Given the description of an element on the screen output the (x, y) to click on. 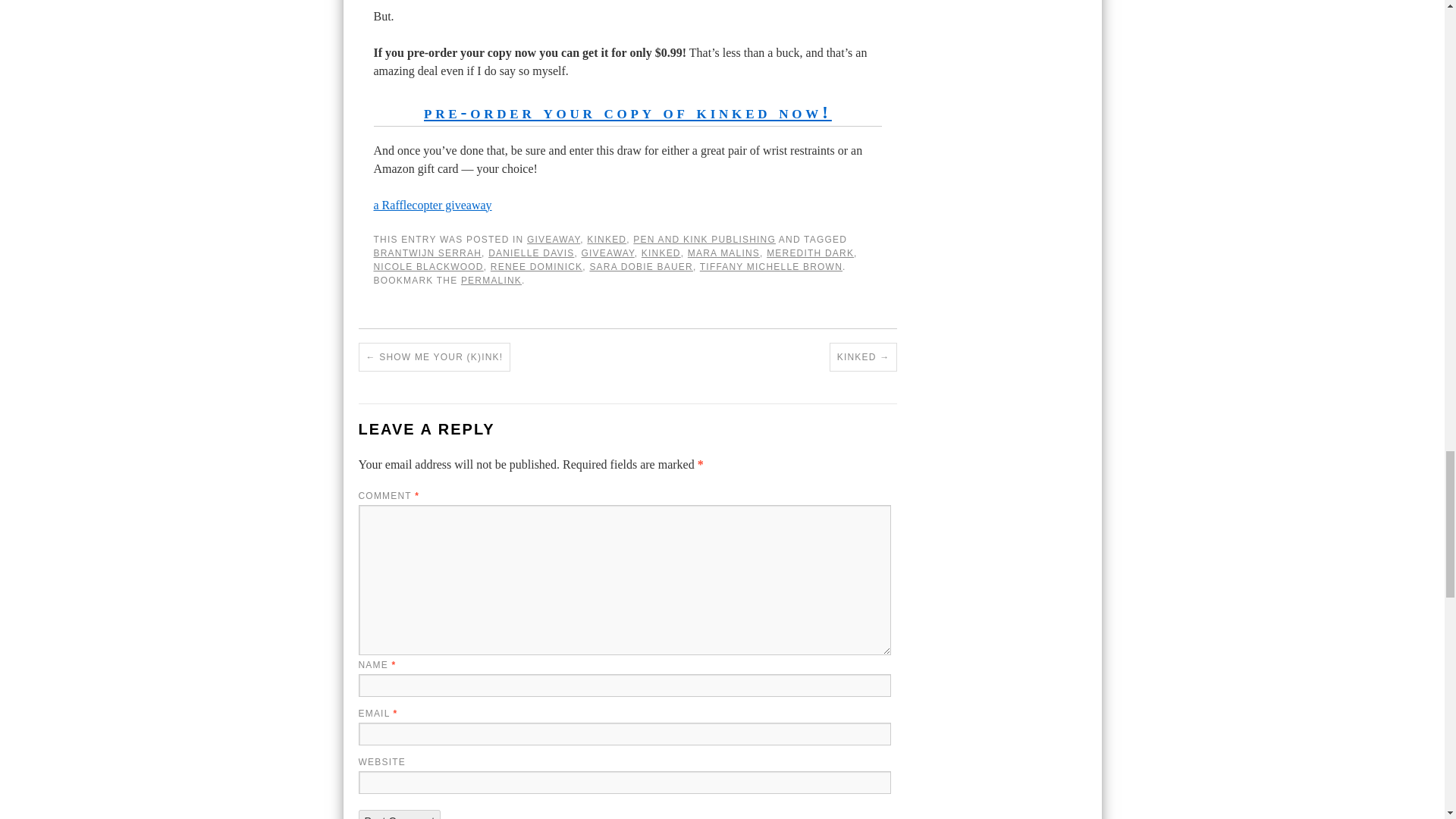
KINKED (661, 253)
SARA DOBIE BAUER (641, 266)
DANIELLE DAVIS (530, 253)
pre-order your copy of kinked now! (627, 112)
Post Comment (399, 814)
TIFFANY MICHELLE BROWN (771, 266)
PERMALINK (491, 280)
MARA MALINS (723, 253)
PEN AND KINK PUBLISHING (704, 239)
a Rafflecopter giveaway (432, 205)
GIVEAWAY (553, 239)
GIVEAWAY (606, 253)
KINKED (606, 239)
BRANTWIJN SERRAH (426, 253)
MEREDITH DARK (810, 253)
